Given the description of an element on the screen output the (x, y) to click on. 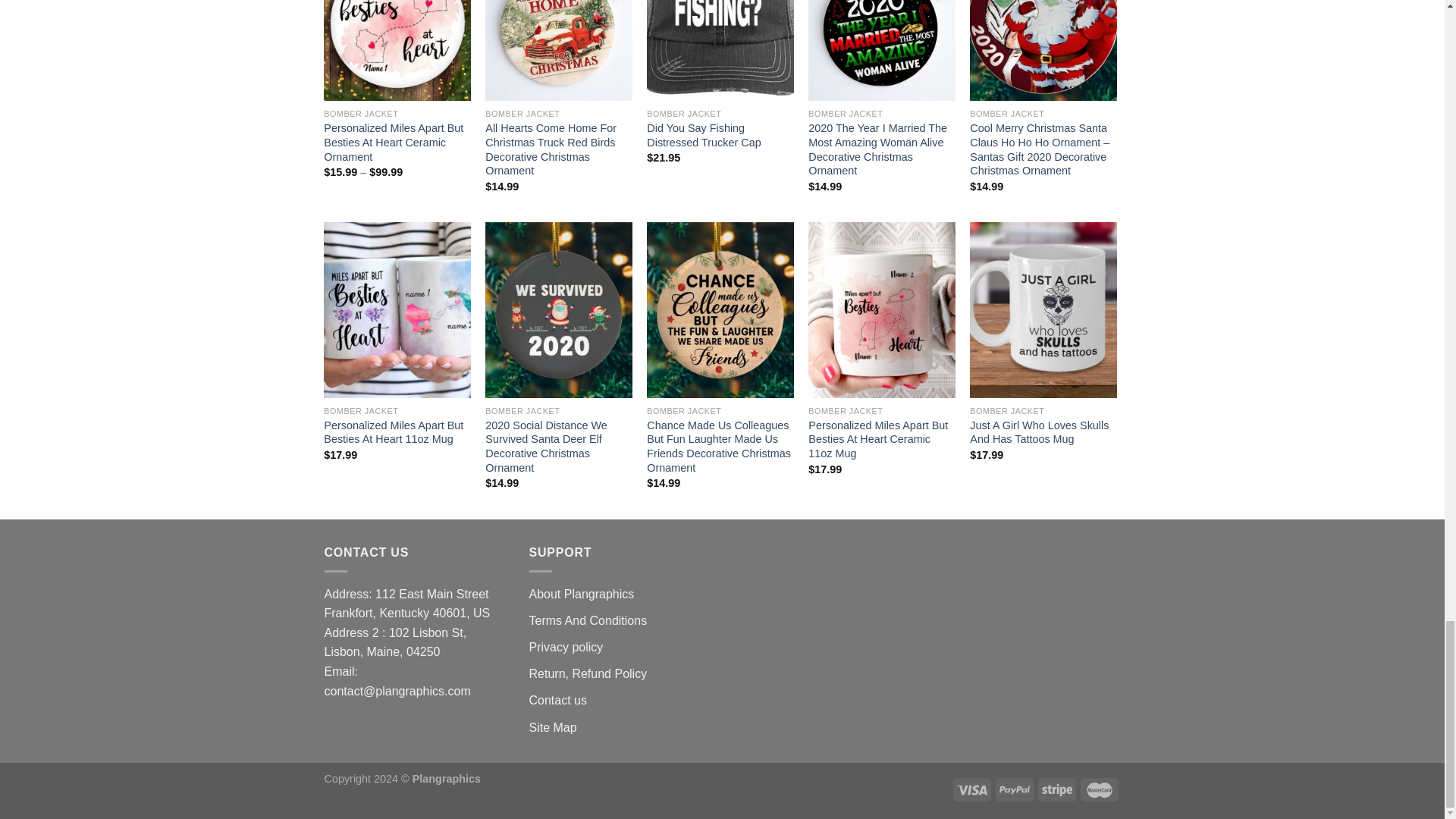
About us (581, 594)
